Given the description of an element on the screen output the (x, y) to click on. 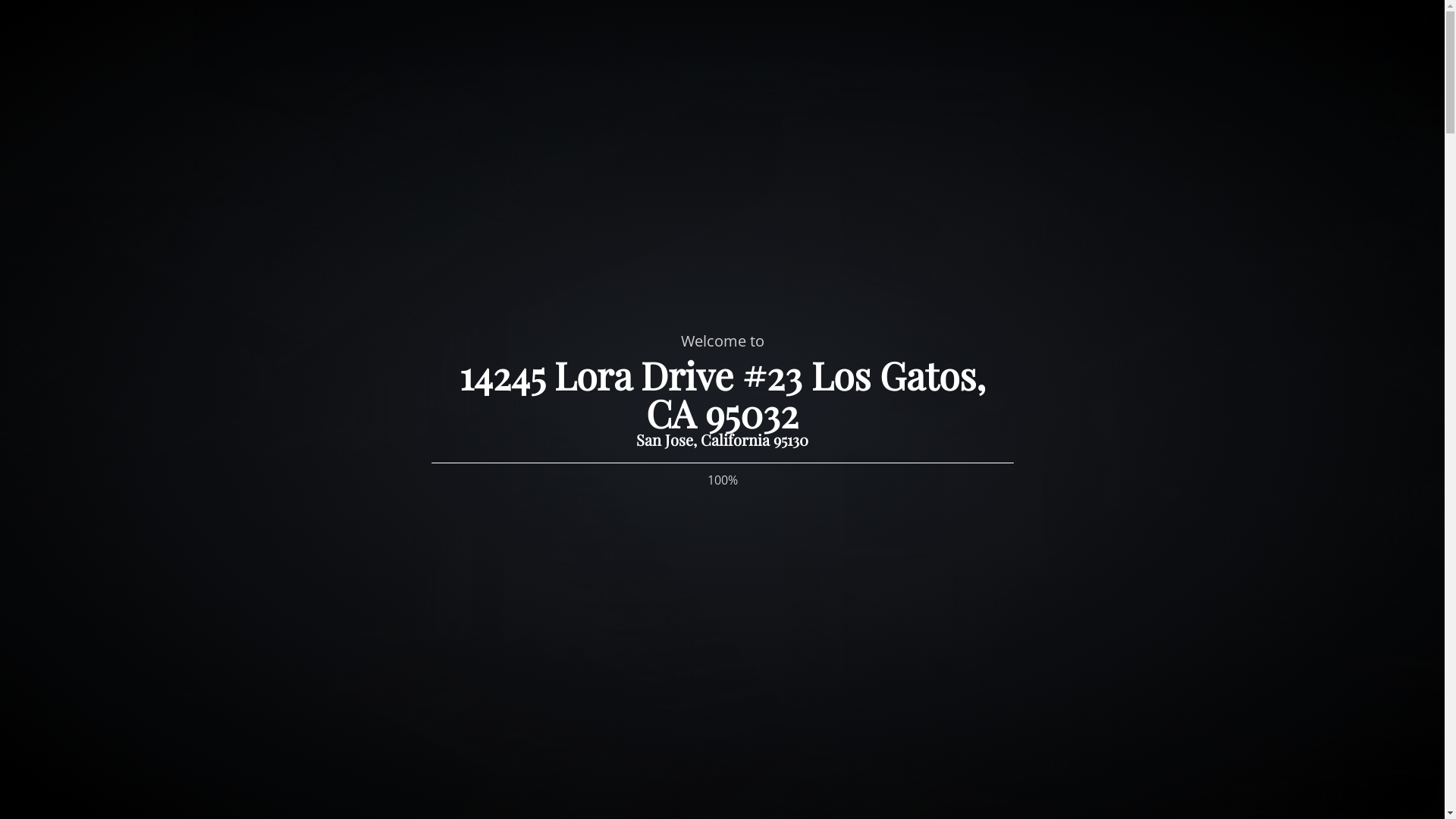
Play Music Element type: hover (1421, 20)
